Given the description of an element on the screen output the (x, y) to click on. 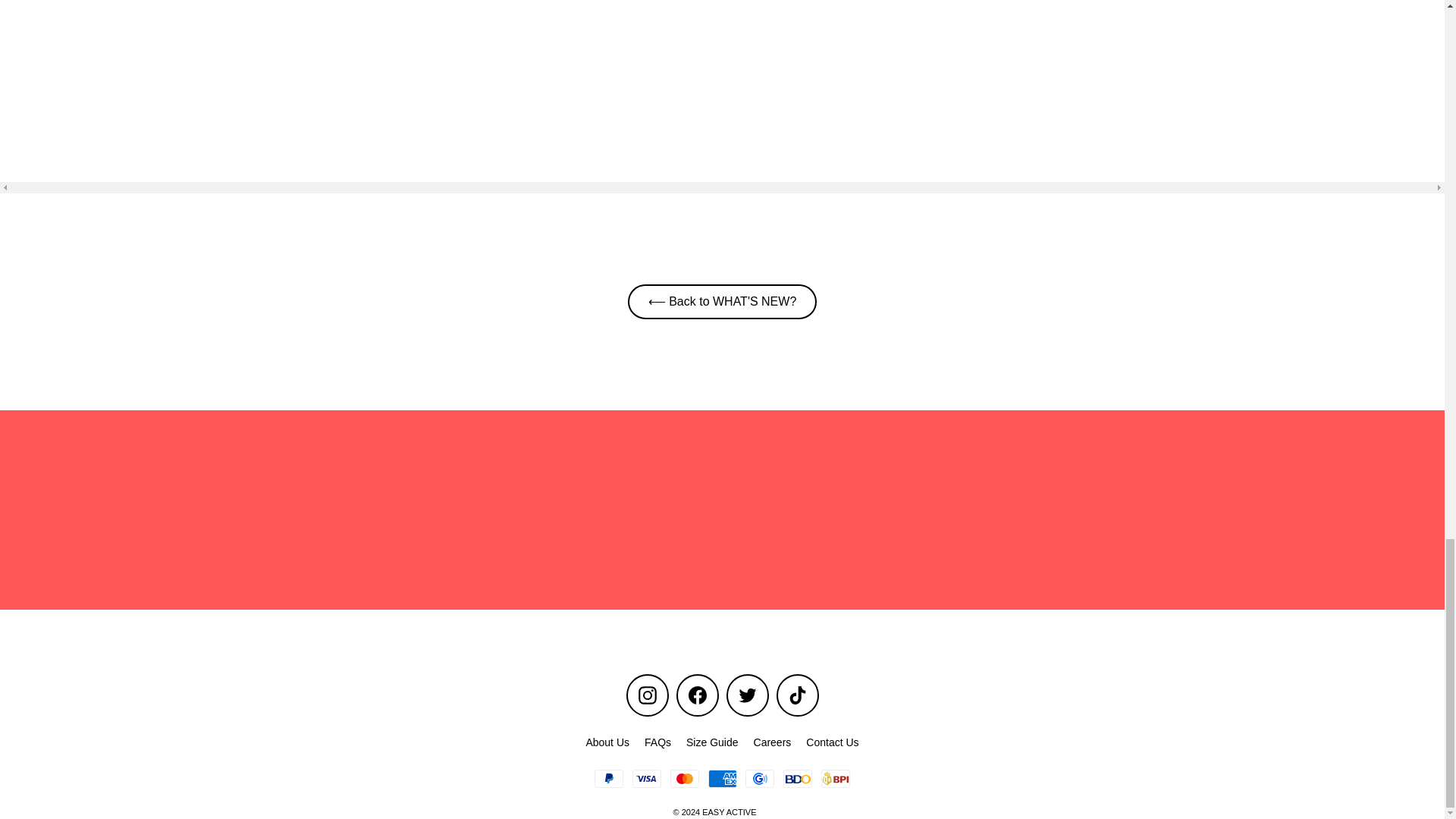
EASY ACTIVE on TikTok (797, 695)
EASY ACTIVE on Facebook (698, 695)
GCash (759, 778)
Mastercard (683, 778)
instagram (647, 695)
Visa (646, 778)
PayPal (608, 778)
BDO (797, 778)
BPI (835, 778)
twitter (747, 695)
